Given the description of an element on the screen output the (x, y) to click on. 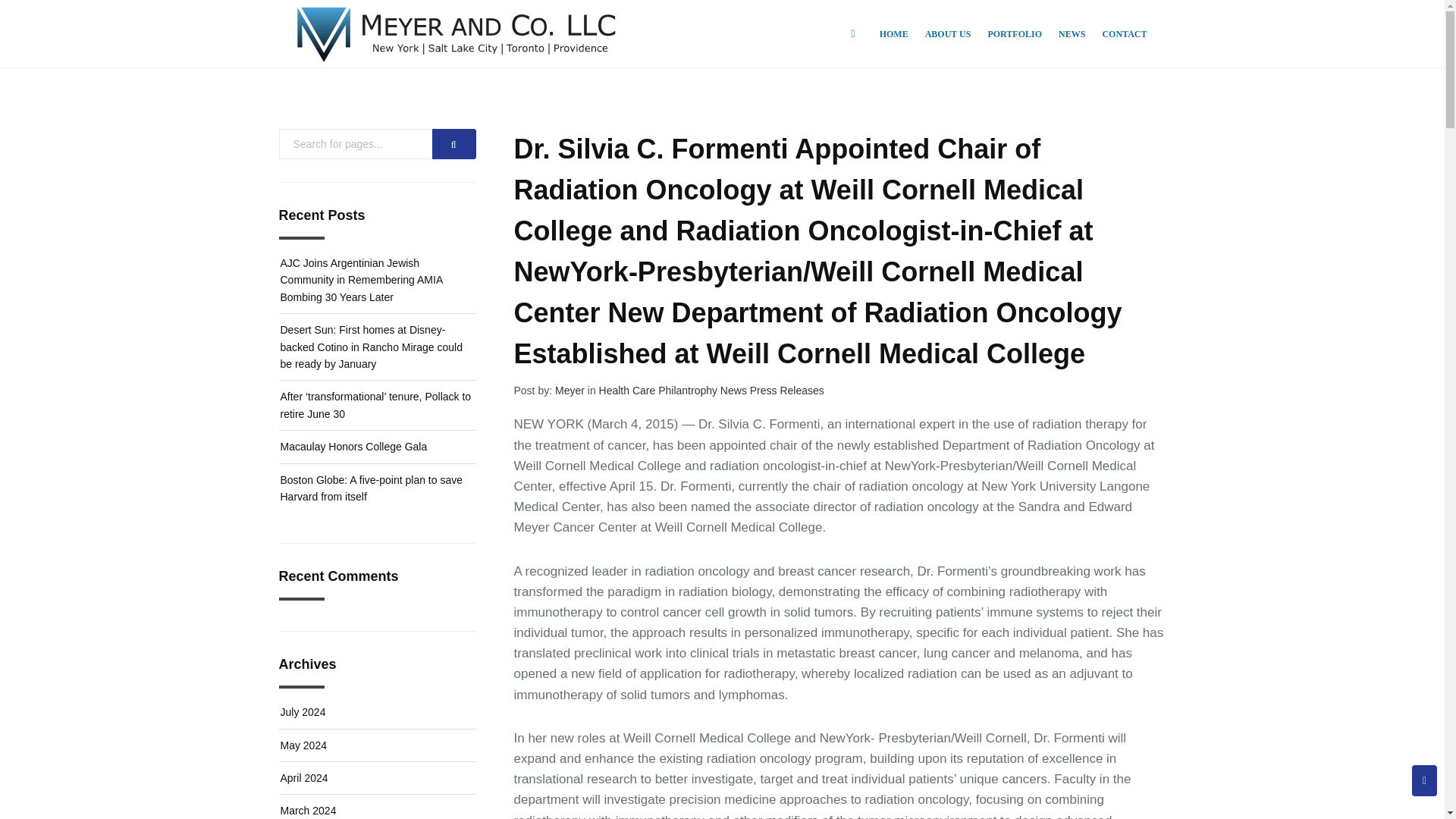
April 2024 (305, 777)
PORTFOLIO (1014, 33)
Philantrophy News (703, 390)
Macaulay Honors College Gala (354, 446)
Meyer (569, 390)
July 2024 (303, 711)
March 2024 (308, 810)
May 2024 (303, 745)
Meyer and Co (456, 33)
